Given the description of an element on the screen output the (x, y) to click on. 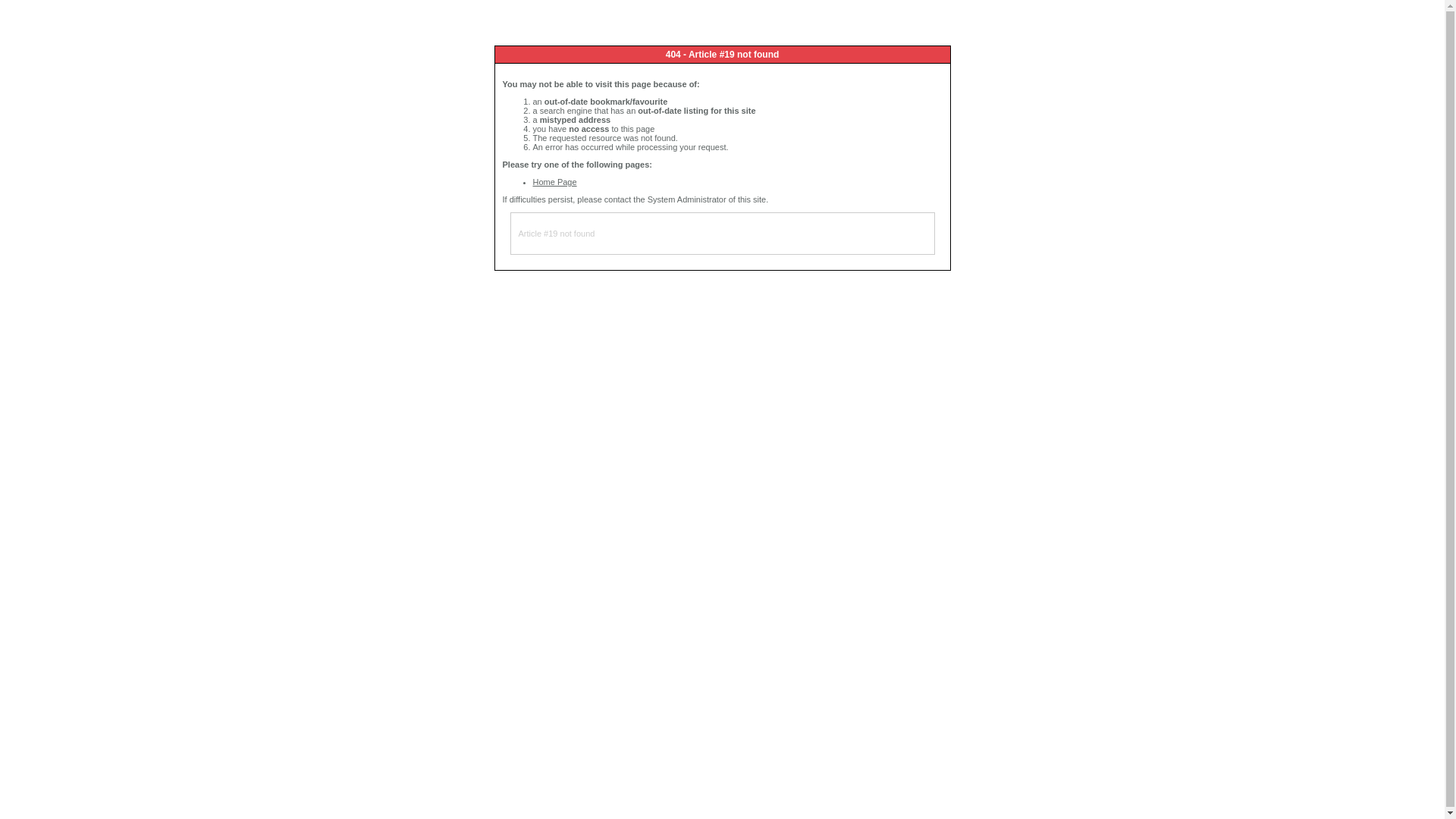
Home Page Element type: text (554, 181)
